Given the description of an element on the screen output the (x, y) to click on. 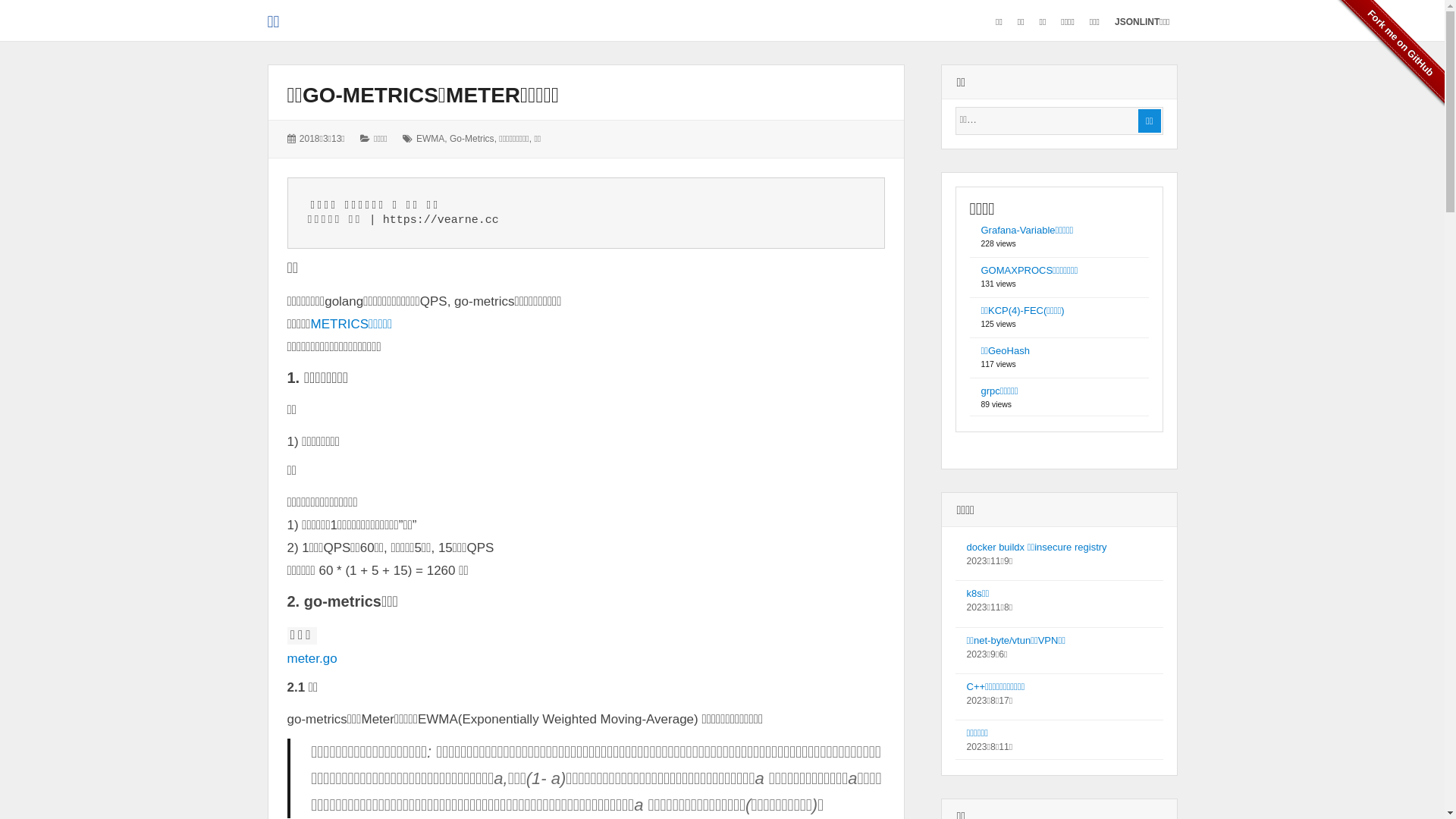
meter.go Element type: text (311, 658)
Search Element type: hover (1058, 119)
EWMA Element type: text (430, 138)
Fork me on GitHub Element type: text (1384, 59)
Go-Metrics Element type: text (471, 138)
